Given the description of an element on the screen output the (x, y) to click on. 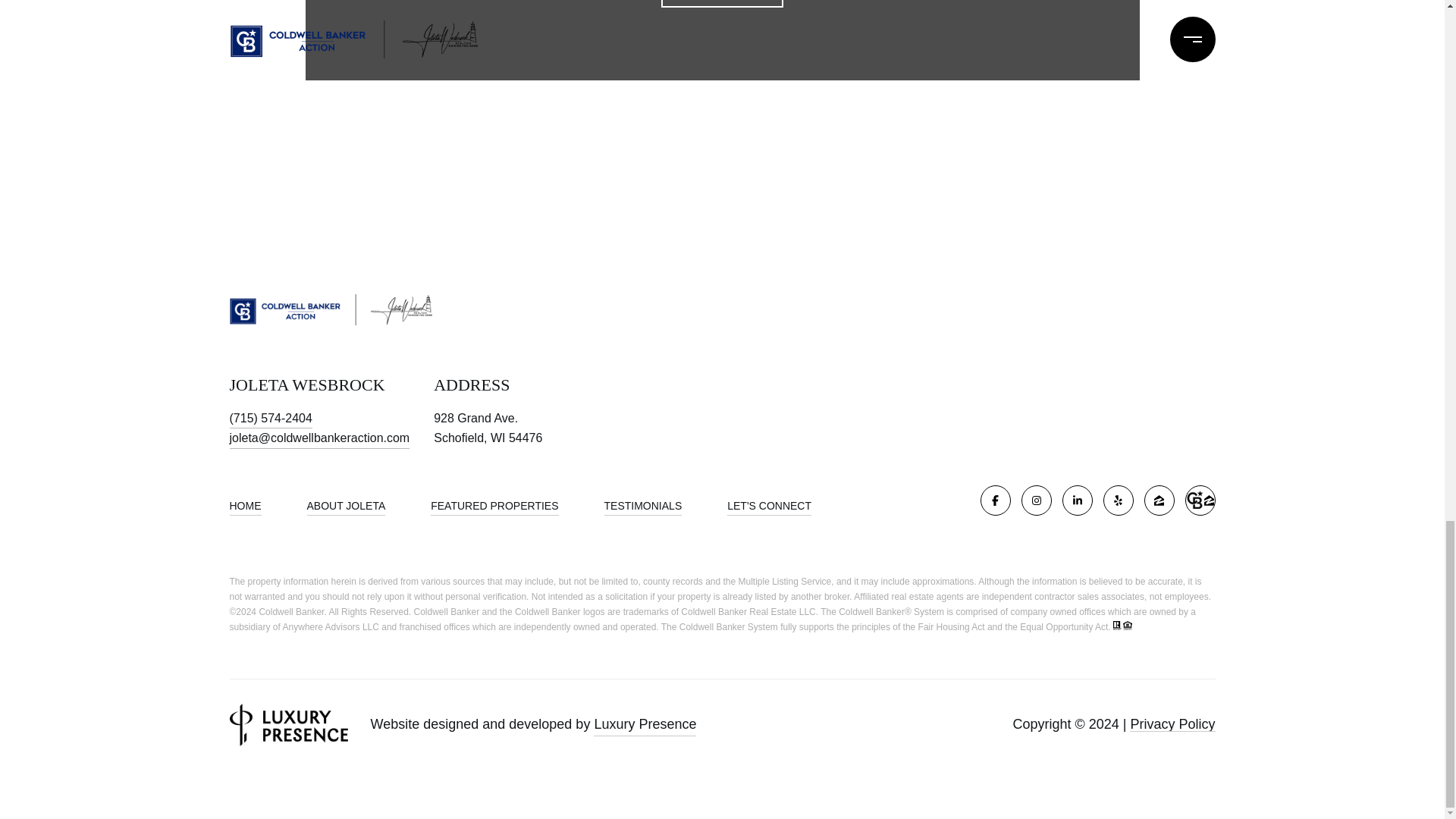
LET'S CONNECT (722, 3)
LET'S CONNECT (768, 505)
FEATURED PROPERTIES (493, 505)
ABOUT JOLETA (345, 505)
HOME (244, 505)
TESTIMONIALS (643, 505)
